Given the description of an element on the screen output the (x, y) to click on. 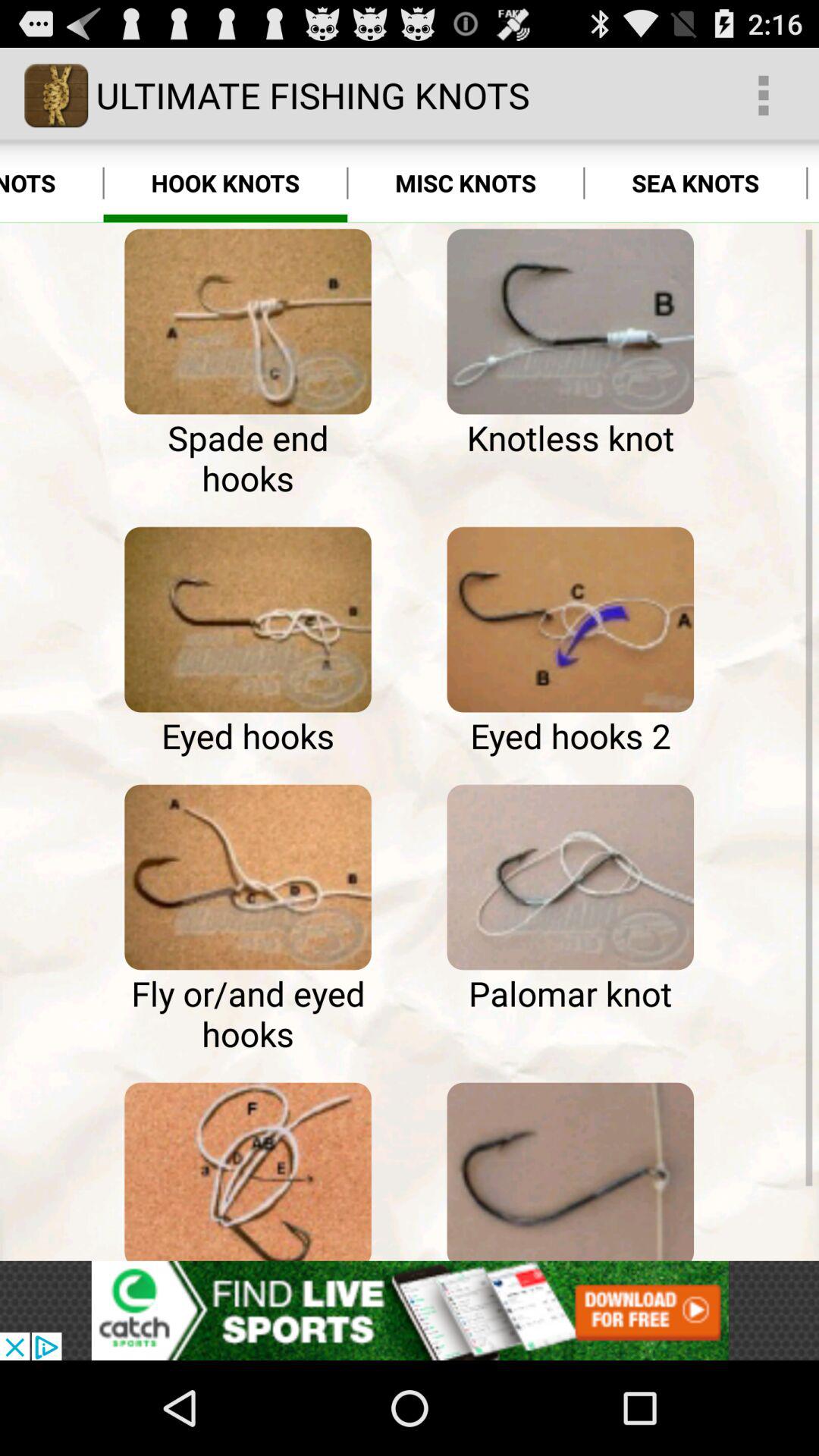
hook knots page (570, 1168)
